Given the description of an element on the screen output the (x, y) to click on. 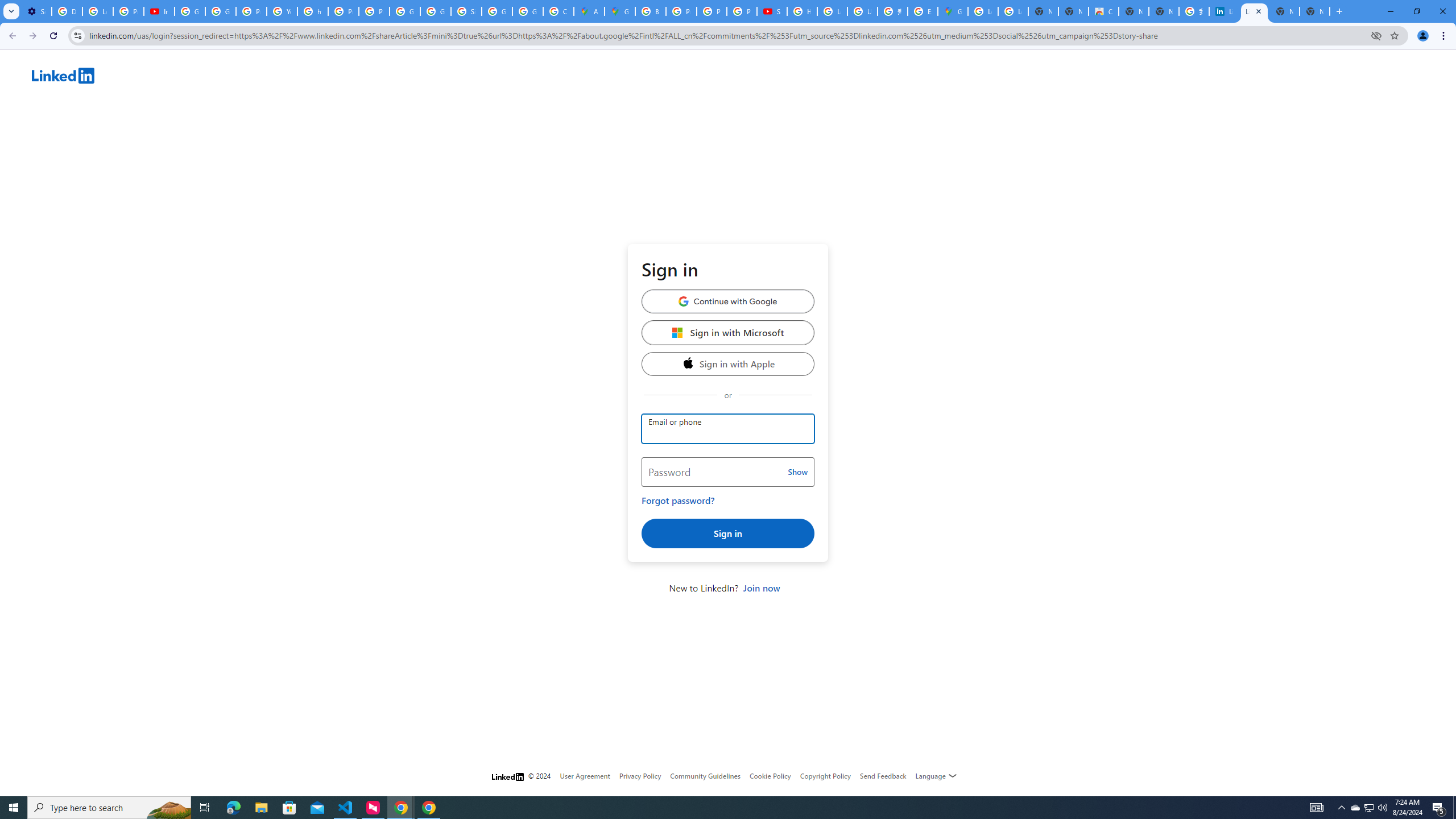
Learn how to find your photos - Google Photos Help (97, 11)
Send Feedback (883, 775)
Community Guidelines (705, 775)
Cookie Policy (769, 775)
Show (797, 472)
Sign in with Microsoft (727, 332)
Password (727, 472)
